Given the description of an element on the screen output the (x, y) to click on. 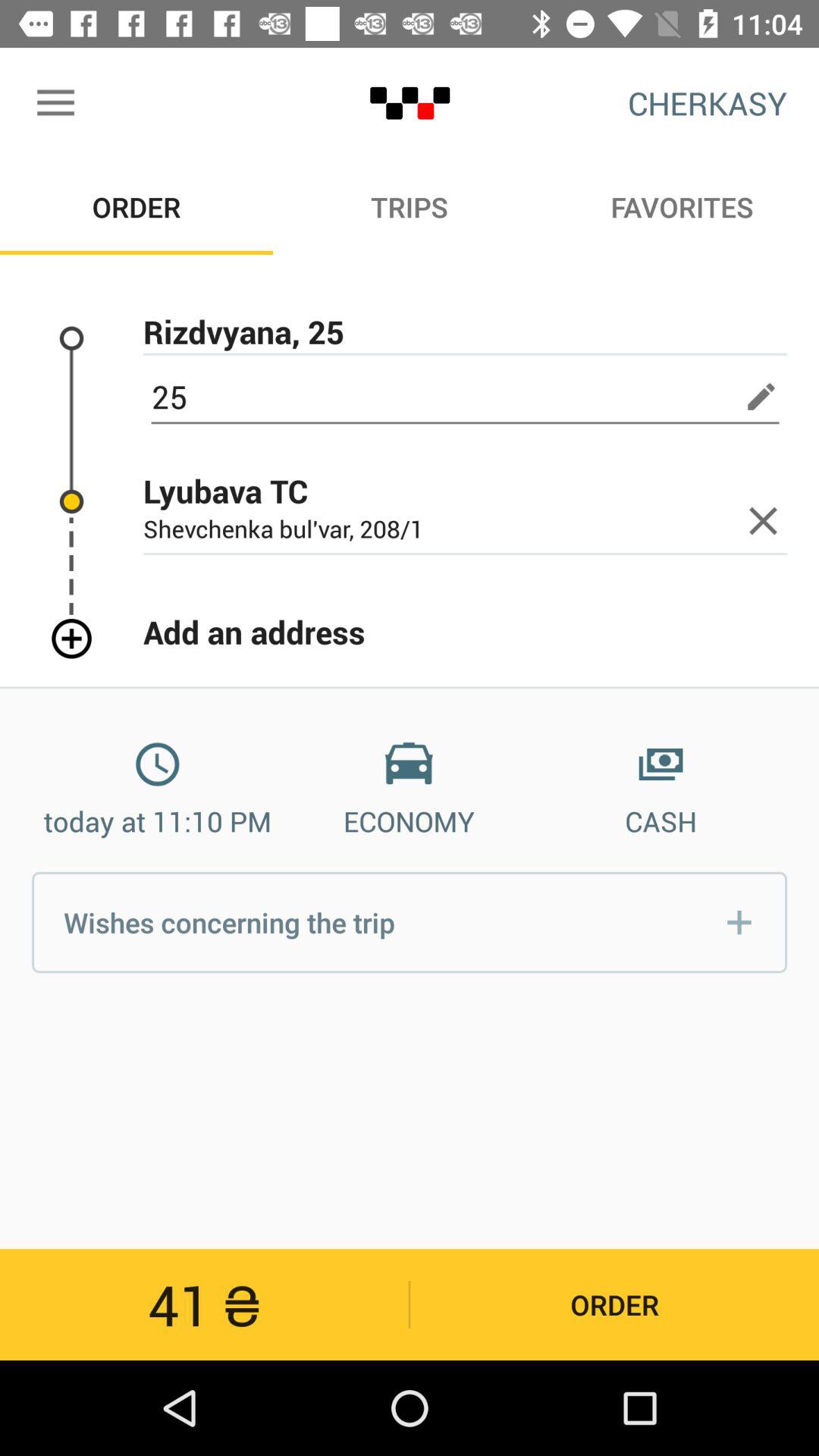
click on button next to lyubava tc (763, 520)
select the image bedside the menu icon (409, 103)
click order (615, 1304)
select the economy icon (408, 765)
